Given the description of an element on the screen output the (x, y) to click on. 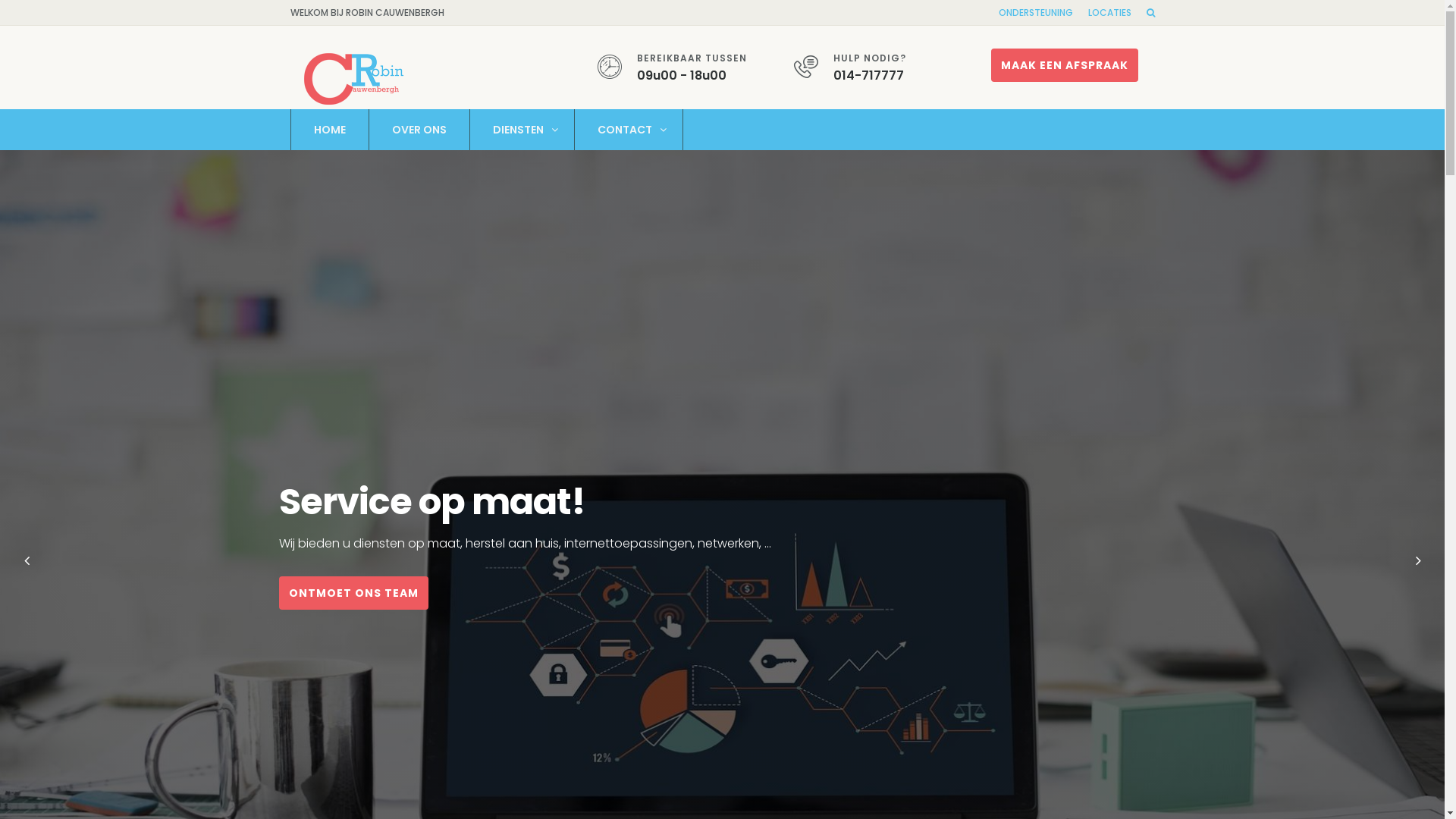
Next Element type: text (1417, 559)
CONTACT Element type: text (627, 129)
Previous Element type: text (26, 559)
HOME Element type: text (328, 129)
OVER ONS Element type: text (419, 129)
ONTMOET ONS TEAM Element type: text (353, 592)
ONDERSTEUNING Element type: text (1034, 12)
LOCATIES Element type: text (1108, 12)
MAAK EEN AFSPRAAK Element type: text (1064, 64)
DIENSTEN Element type: text (521, 129)
